Given the description of an element on the screen output the (x, y) to click on. 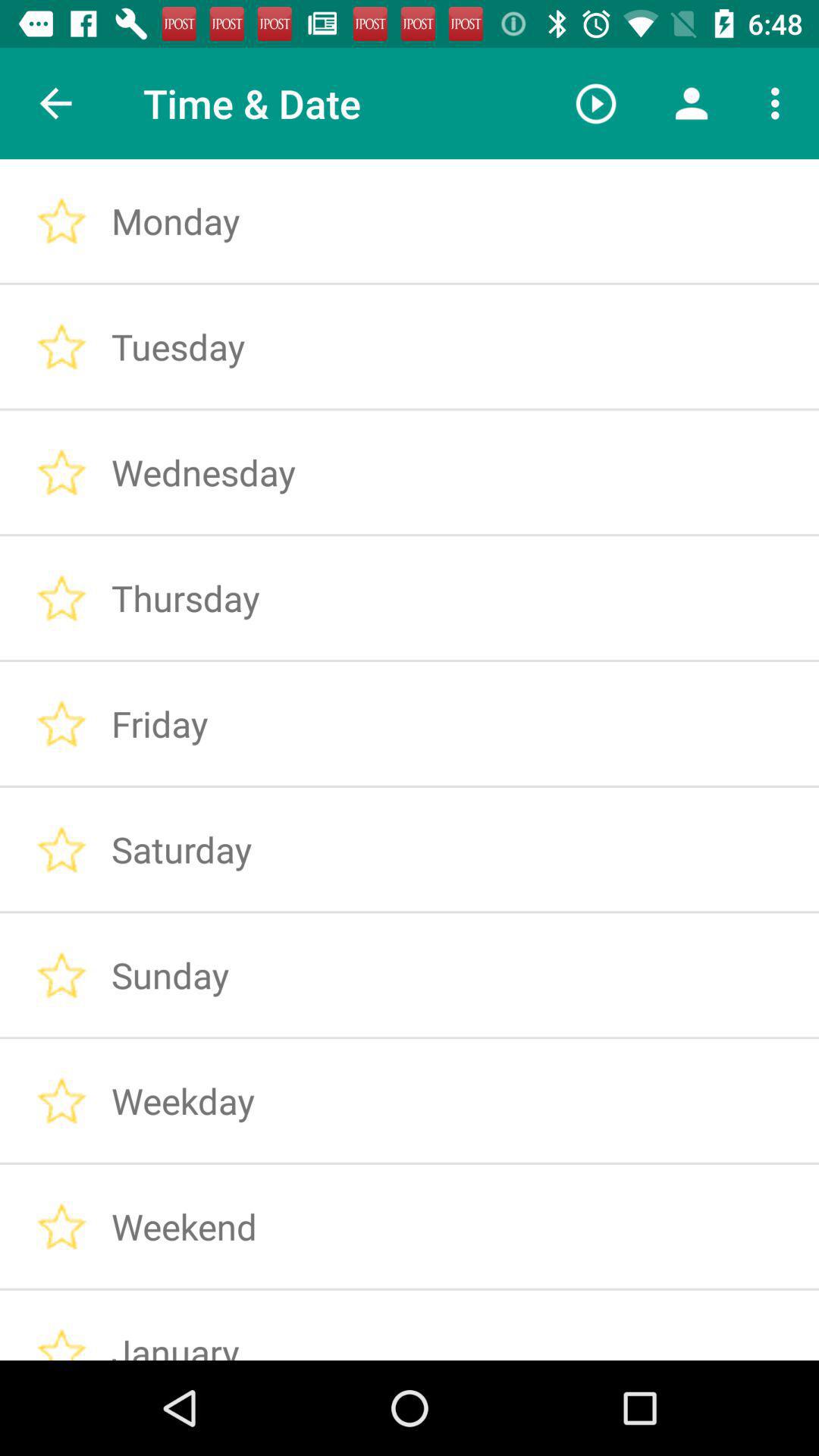
open the item to the right of the time & date item (595, 103)
